Given the description of an element on the screen output the (x, y) to click on. 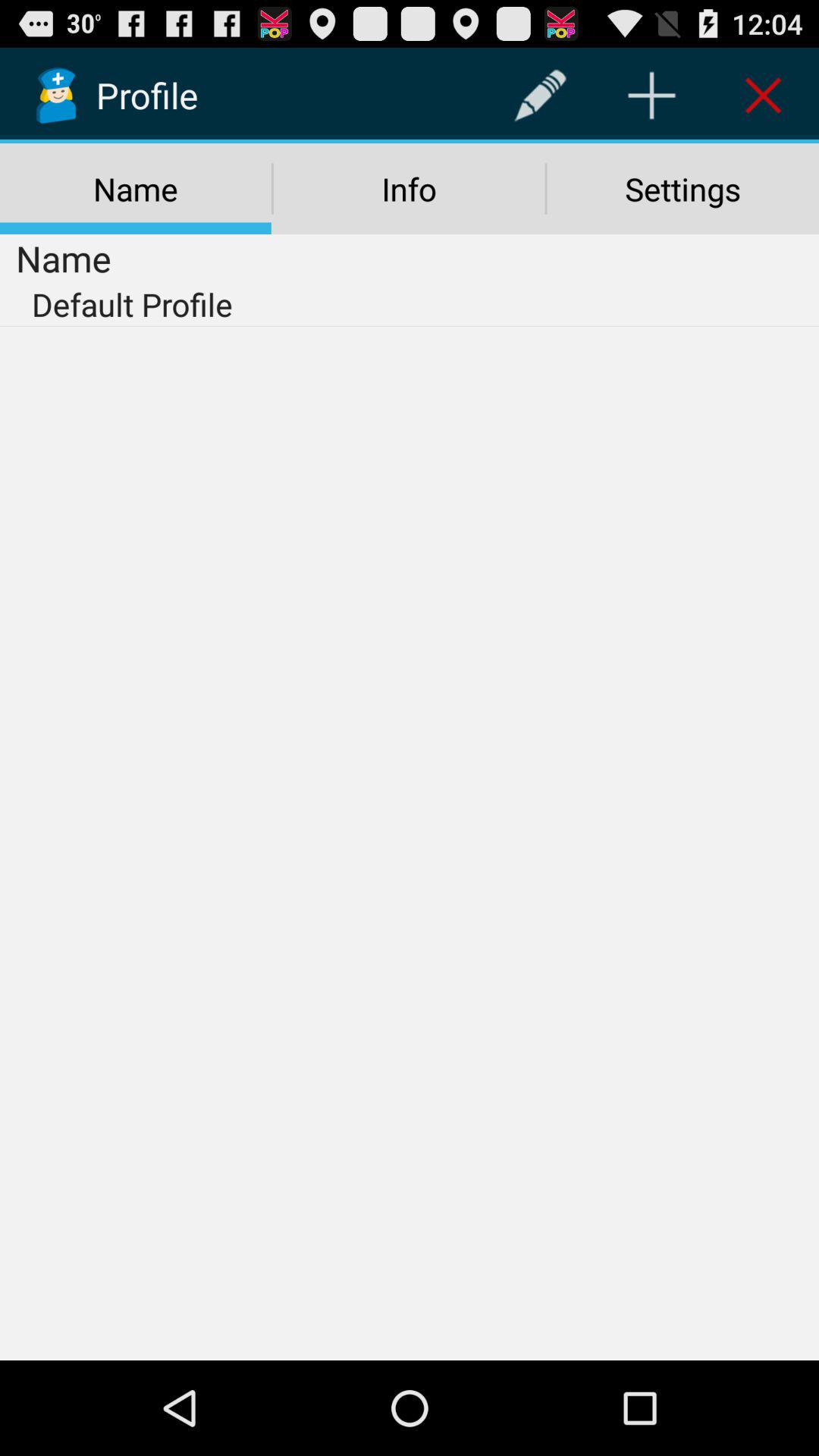
open icon to the right of the info (683, 188)
